Given the description of an element on the screen output the (x, y) to click on. 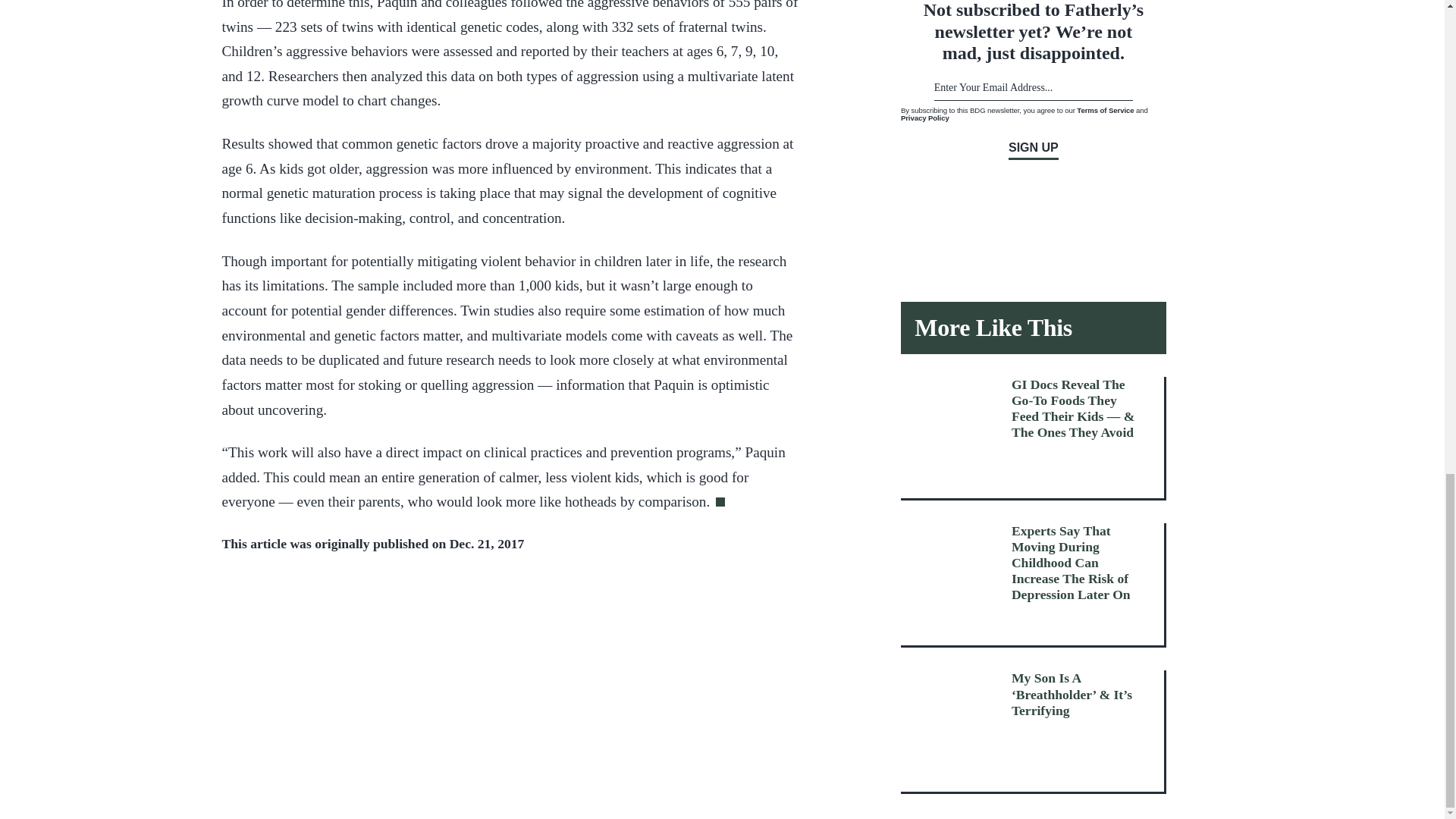
SIGN UP (1033, 149)
Privacy Policy (925, 117)
Terms of Service (1105, 110)
